Given the description of an element on the screen output the (x, y) to click on. 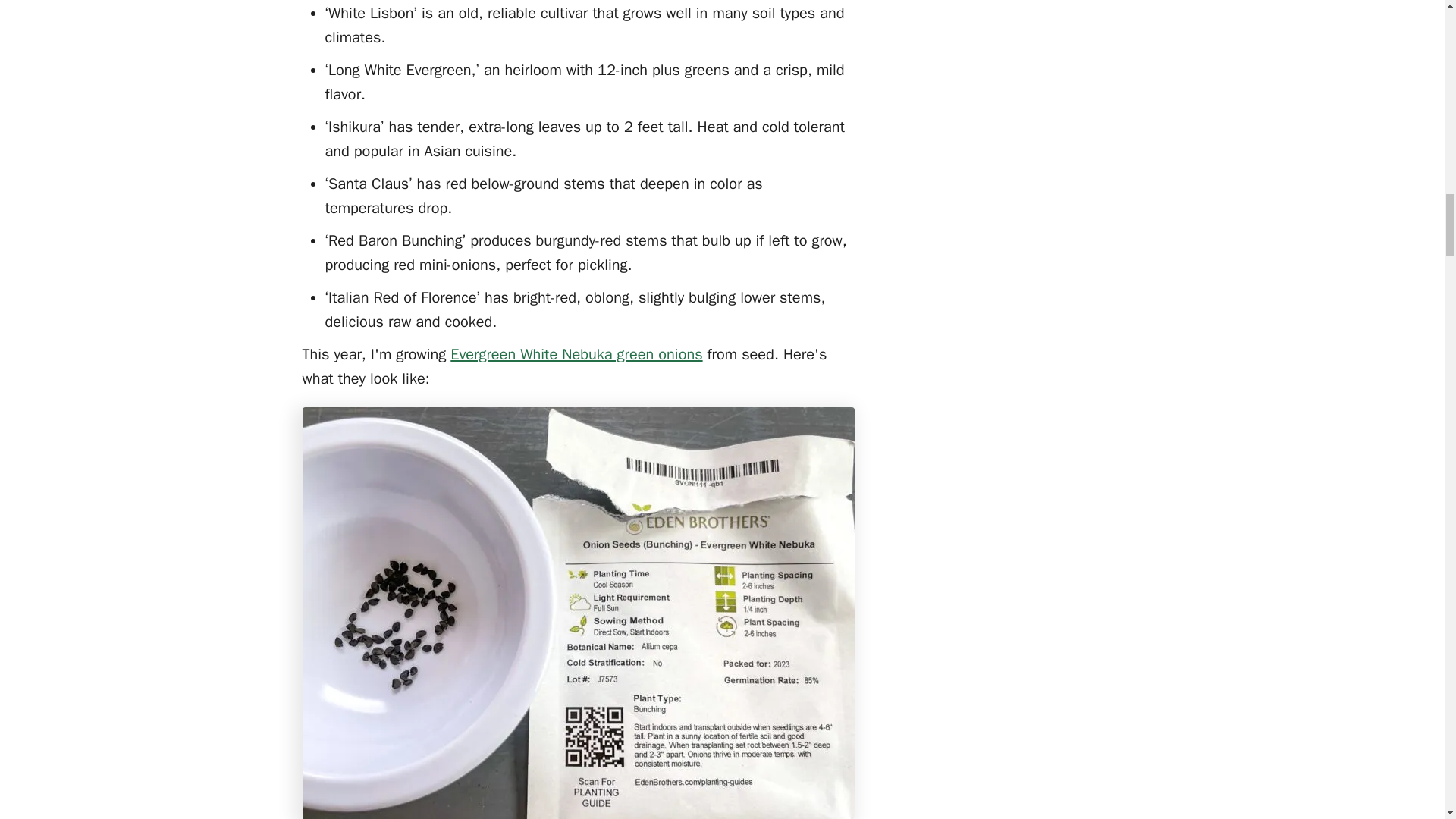
Evergreen White Nebuka green onions (575, 353)
